Given the description of an element on the screen output the (x, y) to click on. 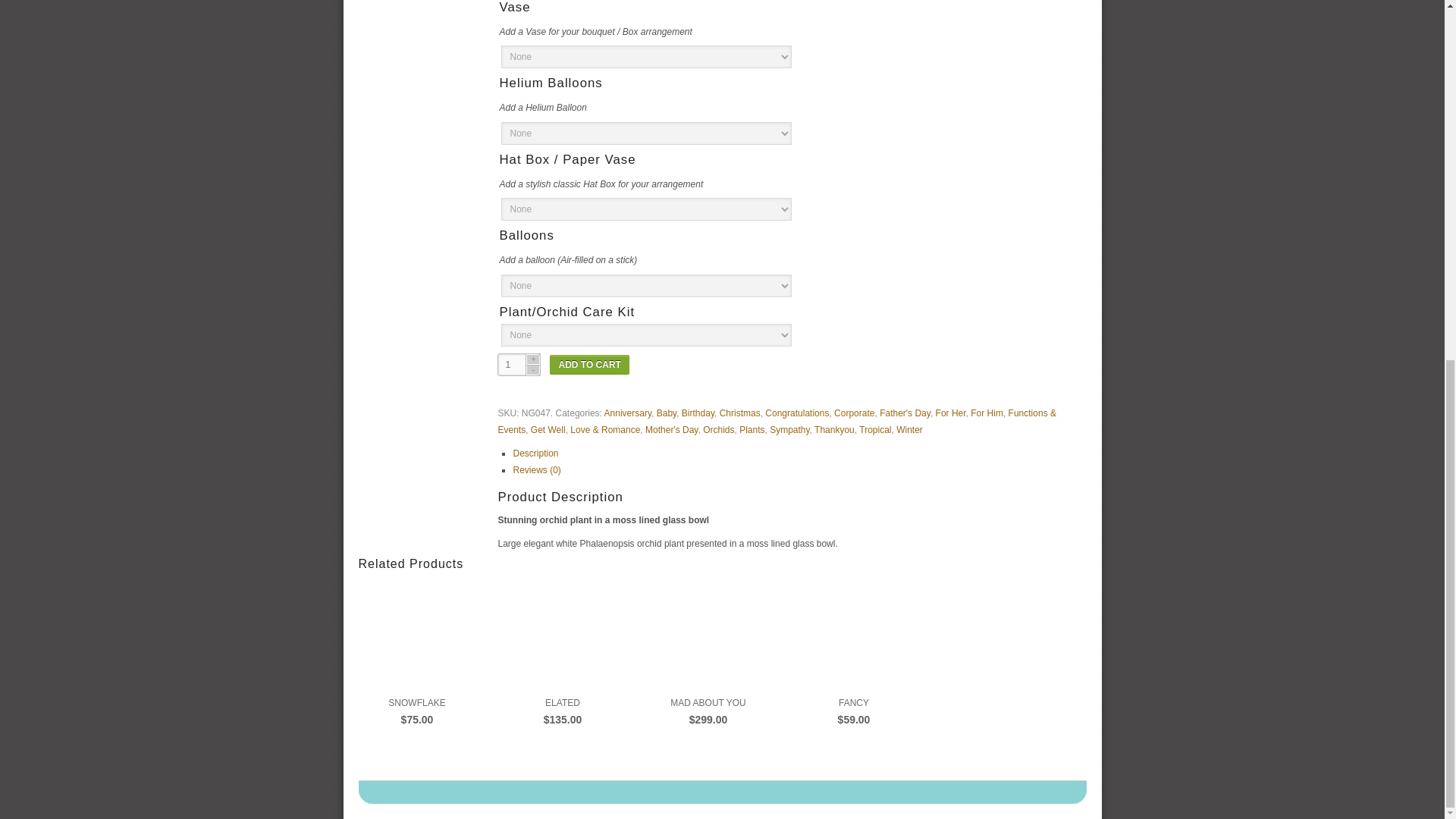
- (532, 369)
1 (519, 363)
